Given the description of an element on the screen output the (x, y) to click on. 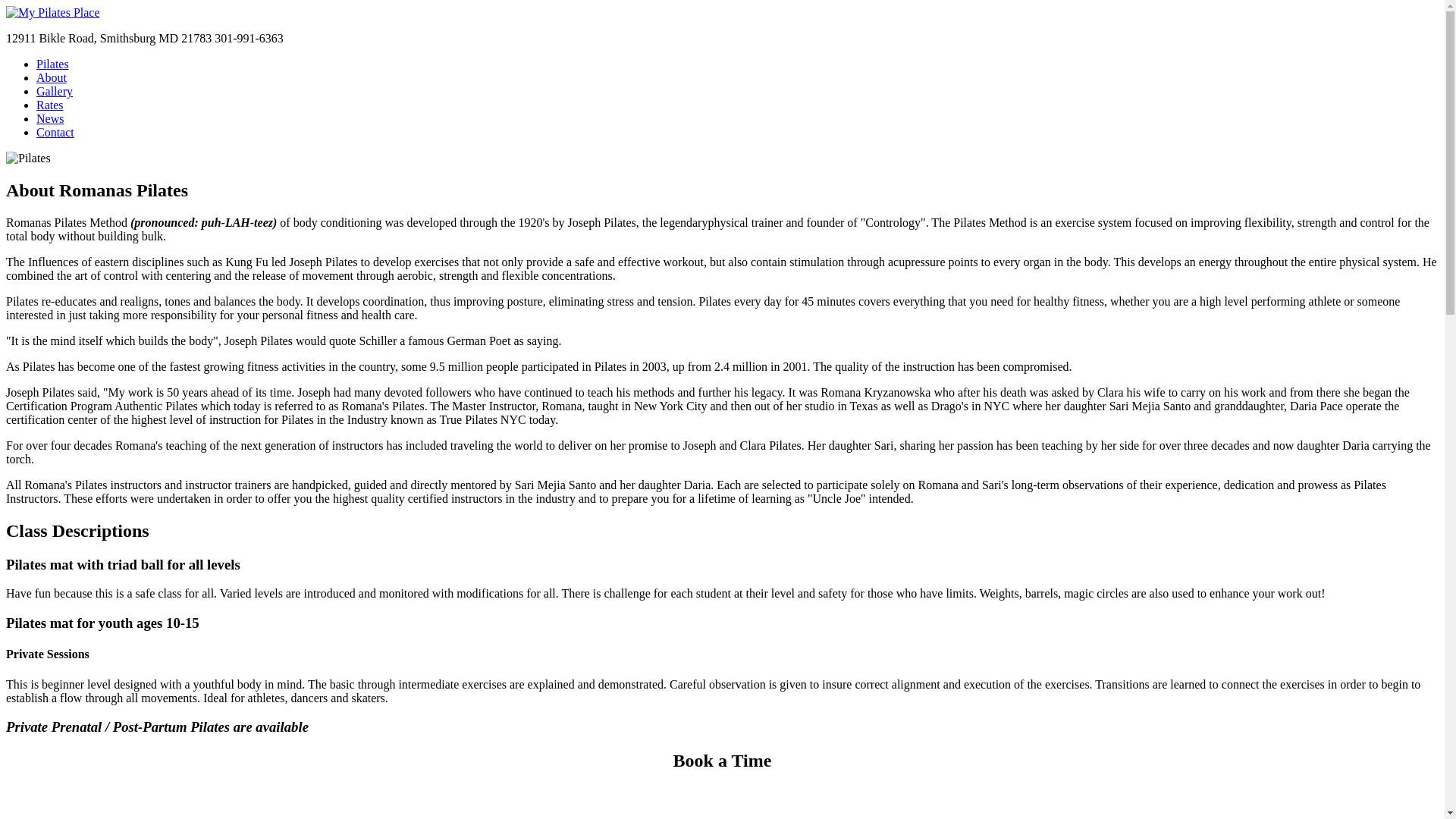
Pilates (52, 63)
Gallery (54, 91)
Contact (55, 132)
News (50, 118)
About (51, 77)
Rates (50, 104)
